Given the description of an element on the screen output the (x, y) to click on. 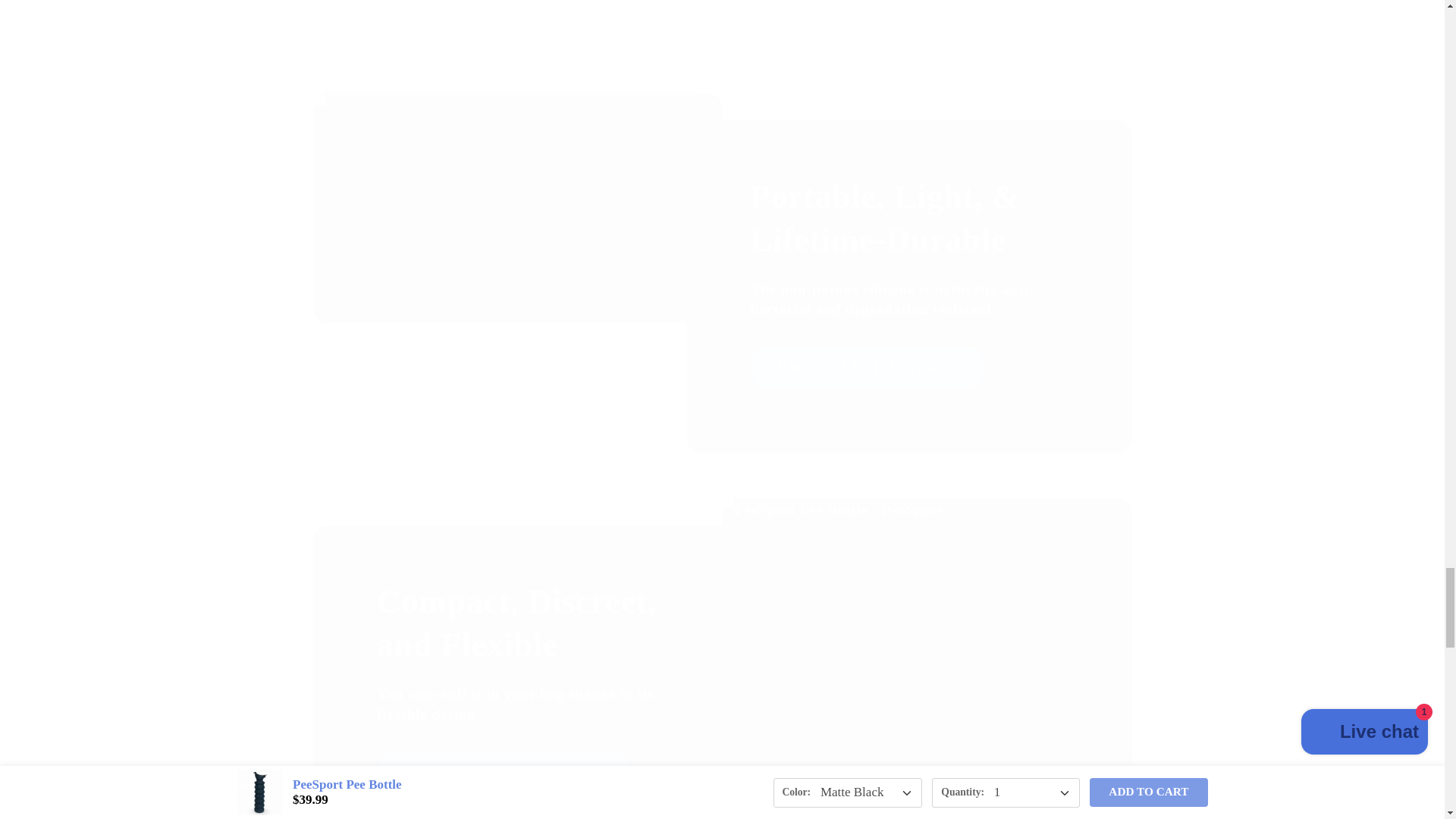
0 (513, 46)
0 (930, 46)
